Given the description of an element on the screen output the (x, y) to click on. 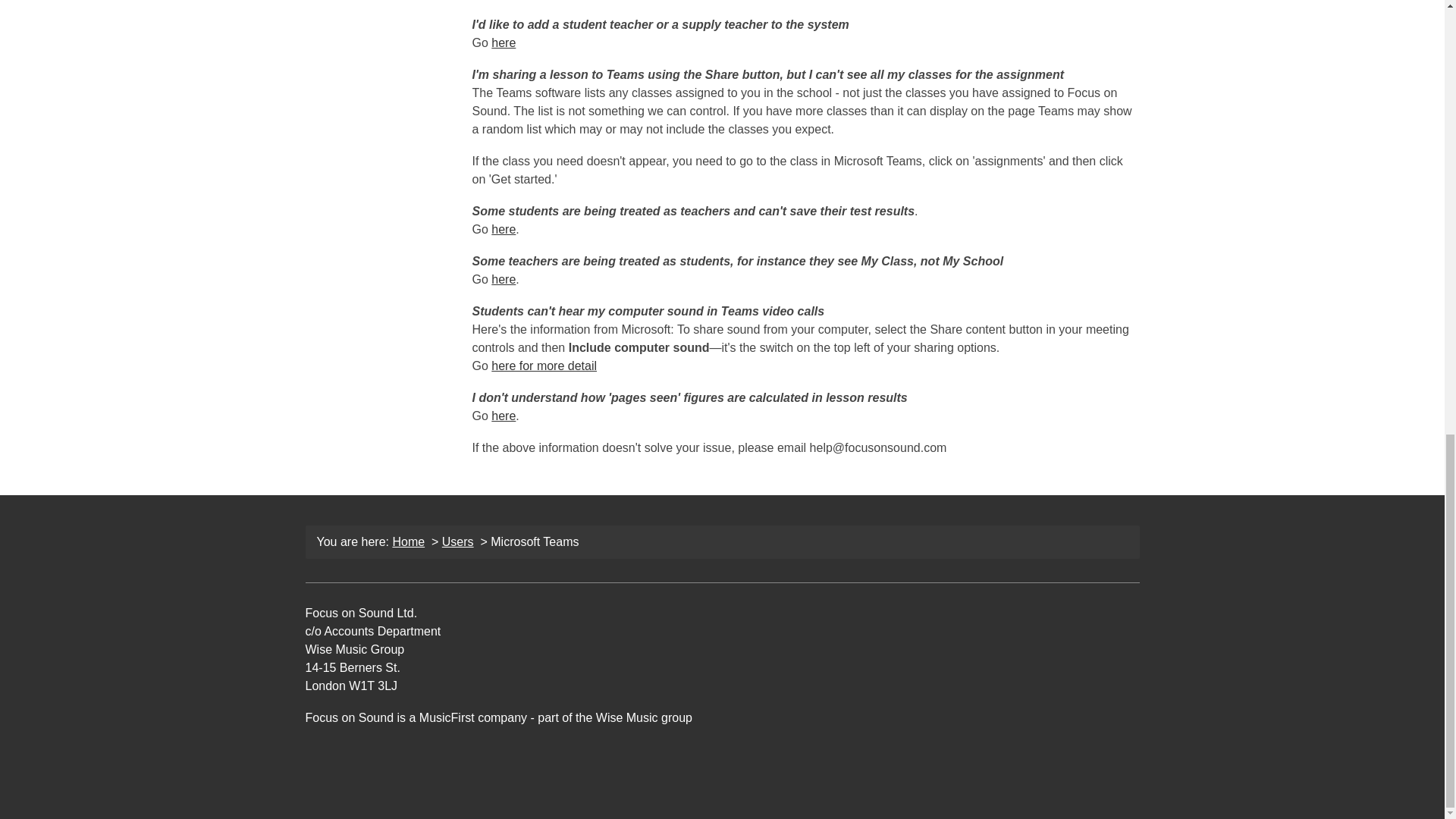
here (503, 42)
